Given the description of an element on the screen output the (x, y) to click on. 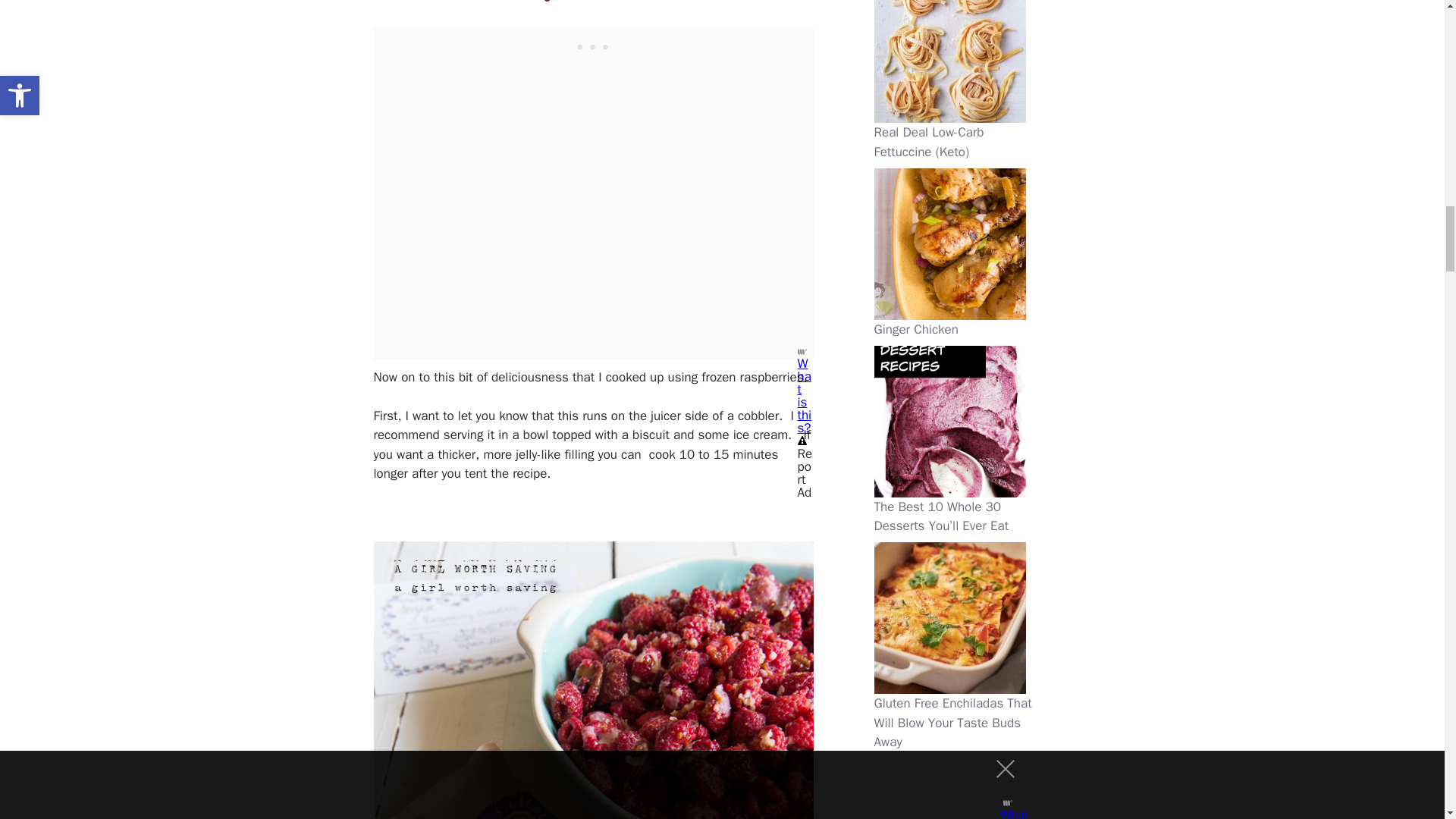
3rd party ad content (592, 45)
Paleo Raspberry Cobbler Kelly Bejelly (592, 680)
Paleo Raspberry Cobbler Kelly Bejelly (593, 3)
